Given the description of an element on the screen output the (x, y) to click on. 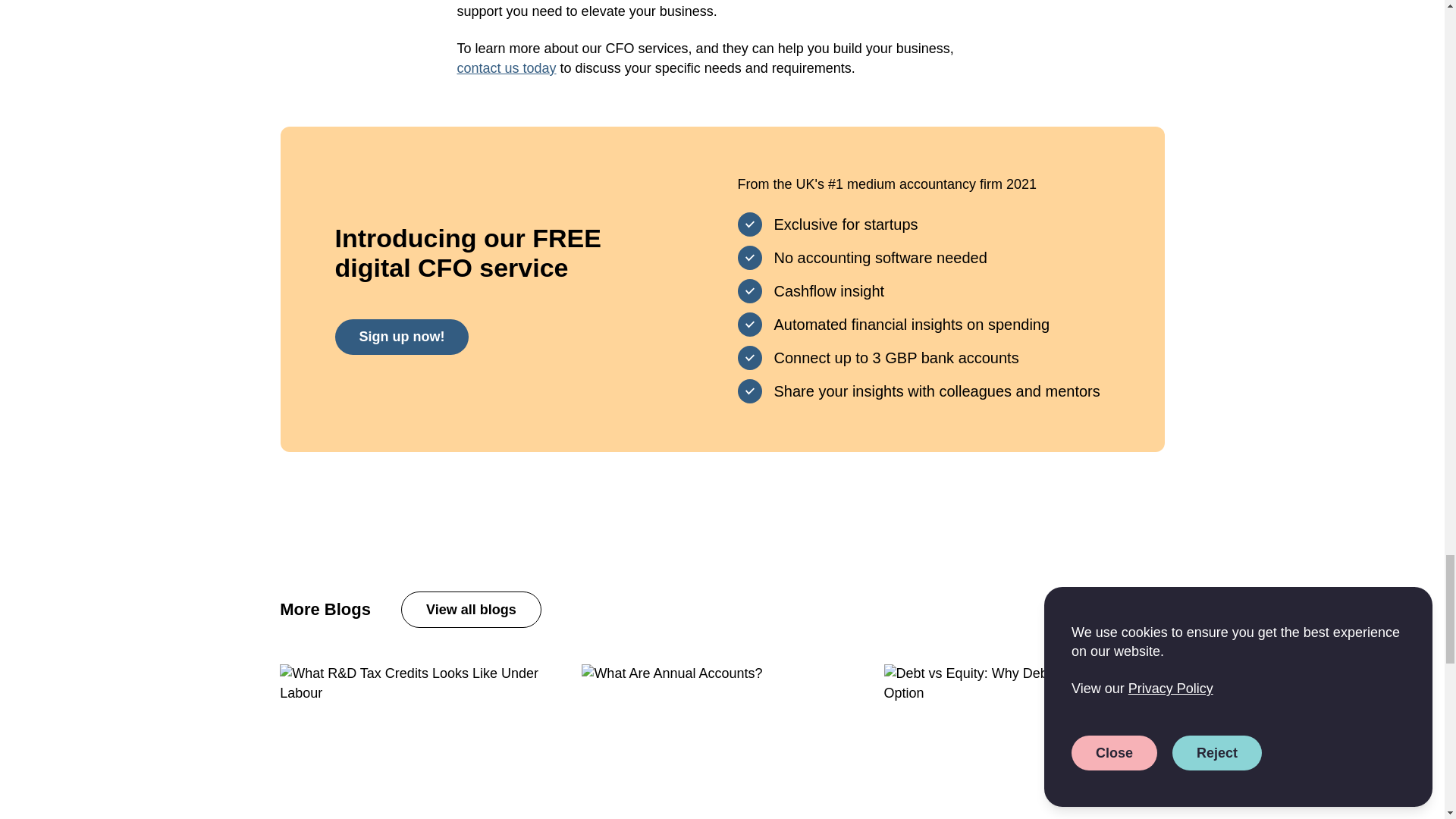
View all blogs (471, 609)
contact us today (506, 68)
Sign up now! (401, 336)
